Given the description of an element on the screen output the (x, y) to click on. 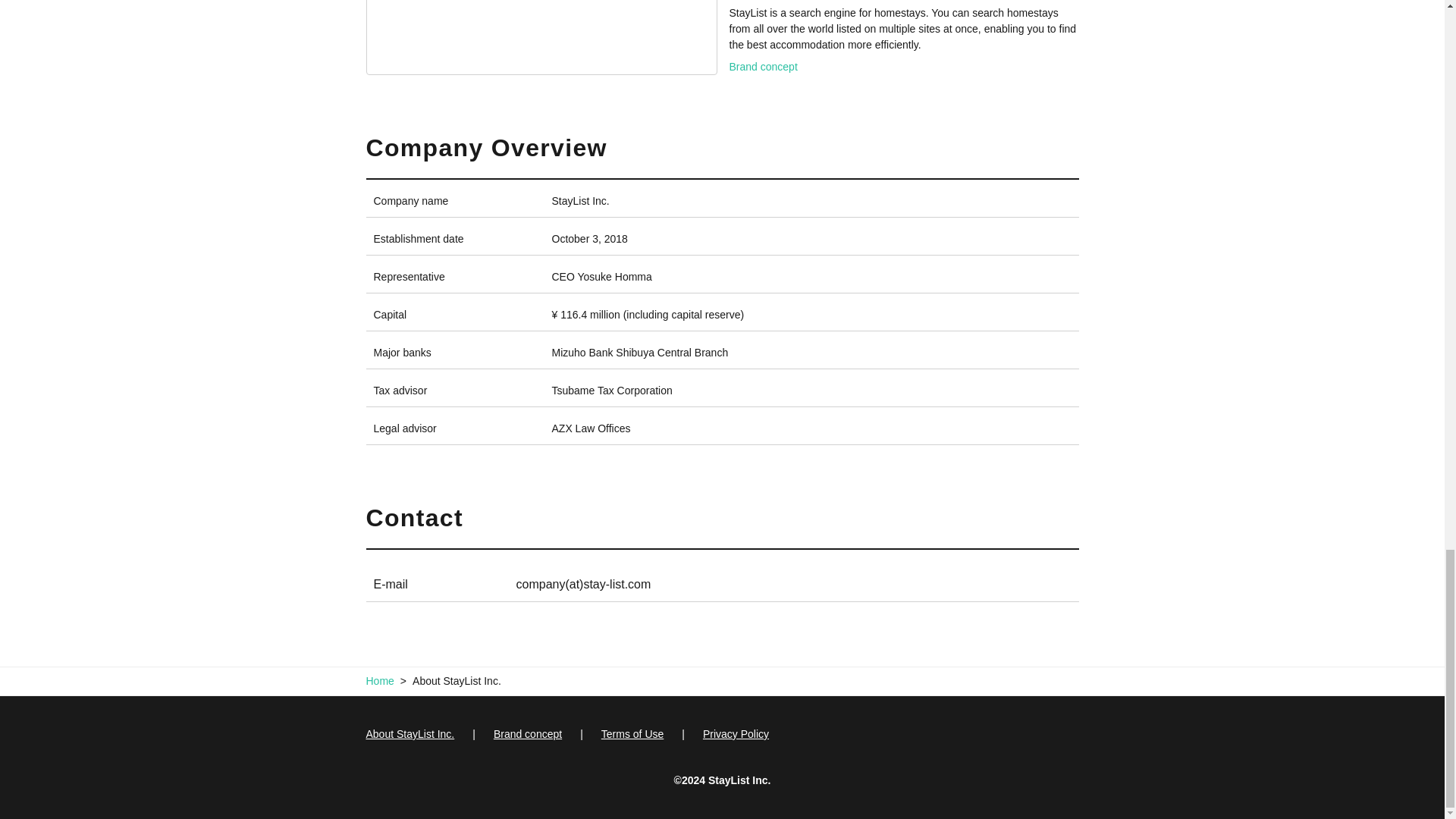
Privacy Policy (724, 734)
Brand concept (516, 734)
Terms of Use (621, 734)
Brand concept (763, 66)
About StayList Inc. (409, 734)
Home (379, 680)
